Given the description of an element on the screen output the (x, y) to click on. 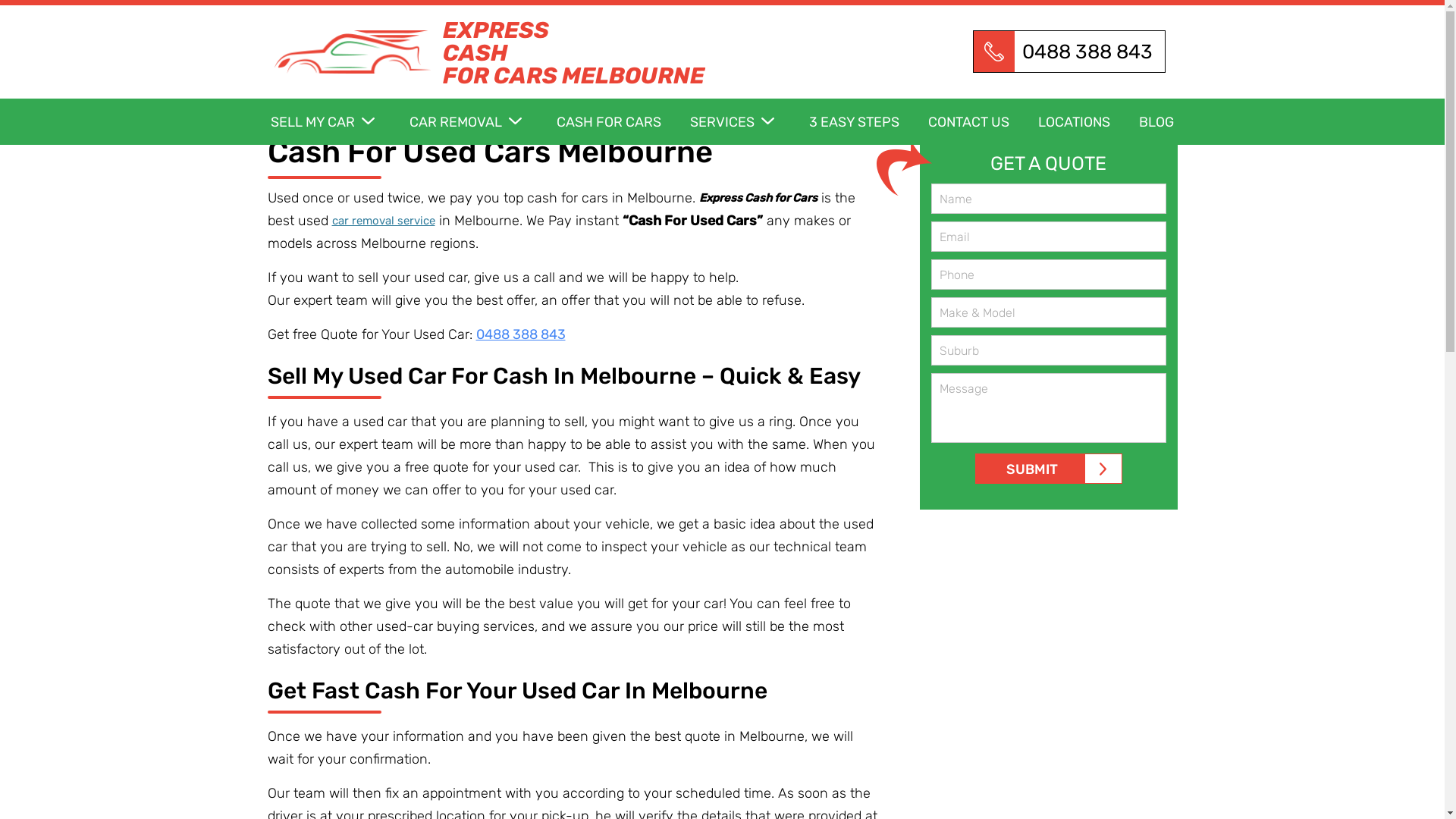
SELL MY CAR Element type: text (338, 127)
CAR REMOVAL Element type: text (481, 127)
SERVICES Element type: text (748, 127)
3 EASY STEPS Element type: text (867, 127)
SUBMIT Element type: text (1048, 468)
0488 388 843 Element type: text (520, 334)
0488 388 843 Element type: text (1068, 51)
CASH FOR CARS Element type: text (621, 127)
BLOG Element type: text (1156, 127)
Express Cash For Cars Element type: hover (351, 51)
LOCATIONS Element type: text (1086, 127)
CONTACT US Element type: text (981, 127)
car removal service Element type: text (383, 220)
EXPRESS
CASH
FOR CARS MELBOURNE Element type: text (566, 27)
